Given the description of an element on the screen output the (x, y) to click on. 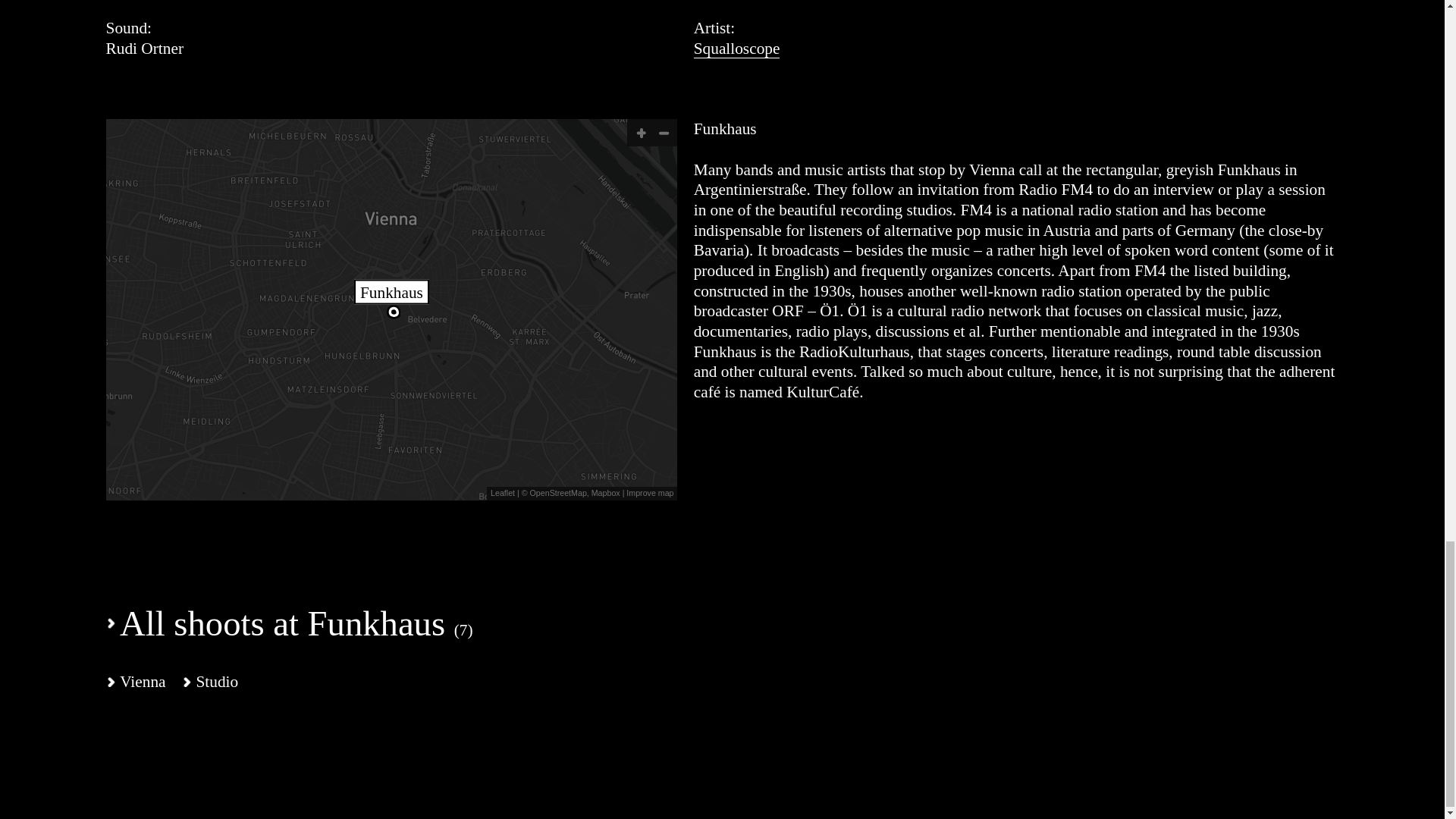
Studio (210, 681)
Mapbox (605, 492)
Vienna (135, 681)
A JavaScript library for interactive maps (502, 492)
Leaflet (502, 492)
OpenStreetMap (557, 492)
Zoom out (664, 132)
Zoom in (639, 132)
Improve map (648, 492)
Squalloscope (737, 48)
